Given the description of an element on the screen output the (x, y) to click on. 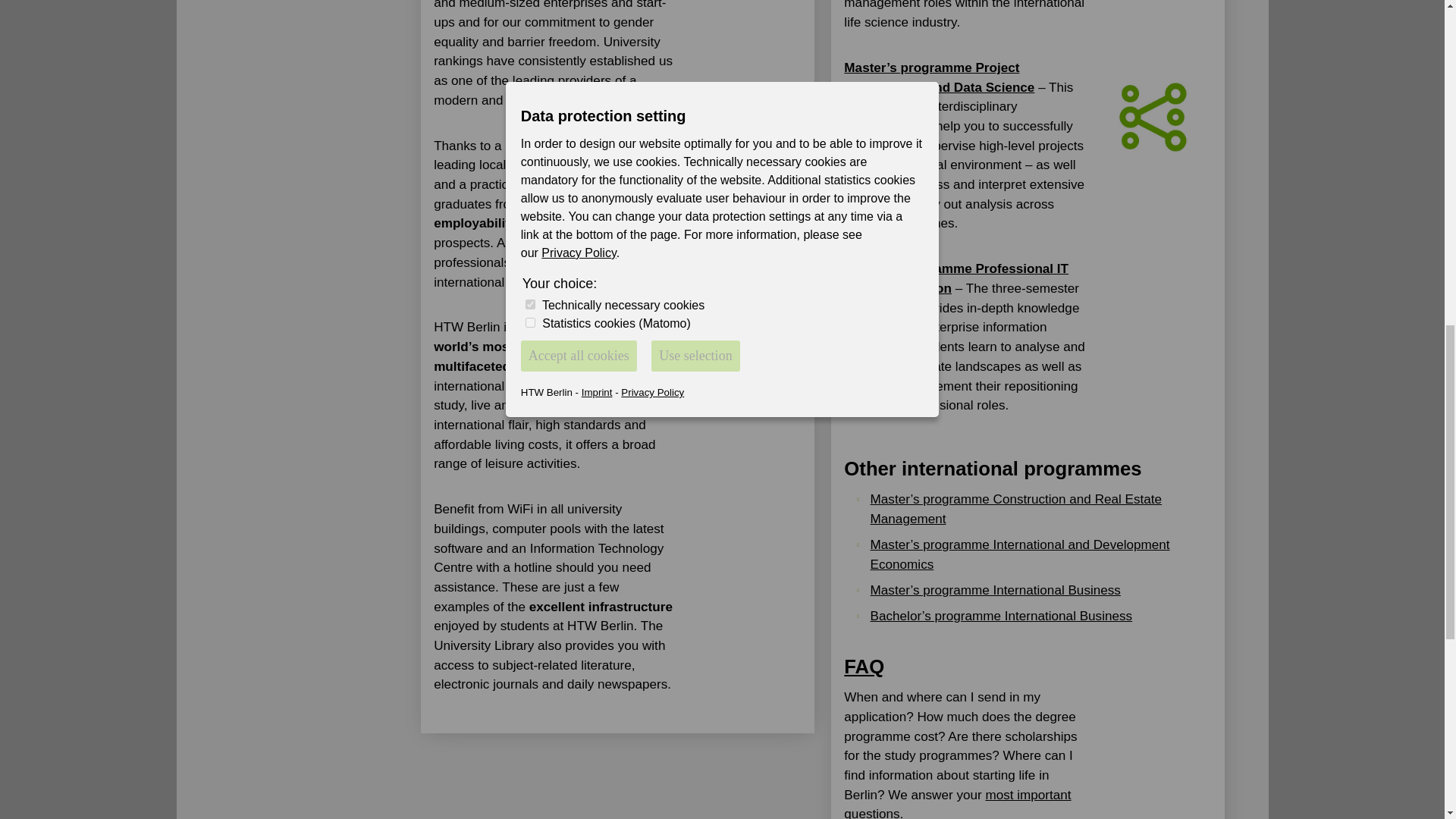
Opens internal link in current window (1020, 554)
Icon (1152, 117)
Opens internal link in current window (1001, 616)
Opens internal link in current window (1015, 509)
Opens internal link in current window (995, 590)
Opens internal link in current window (957, 803)
